Given the description of an element on the screen output the (x, y) to click on. 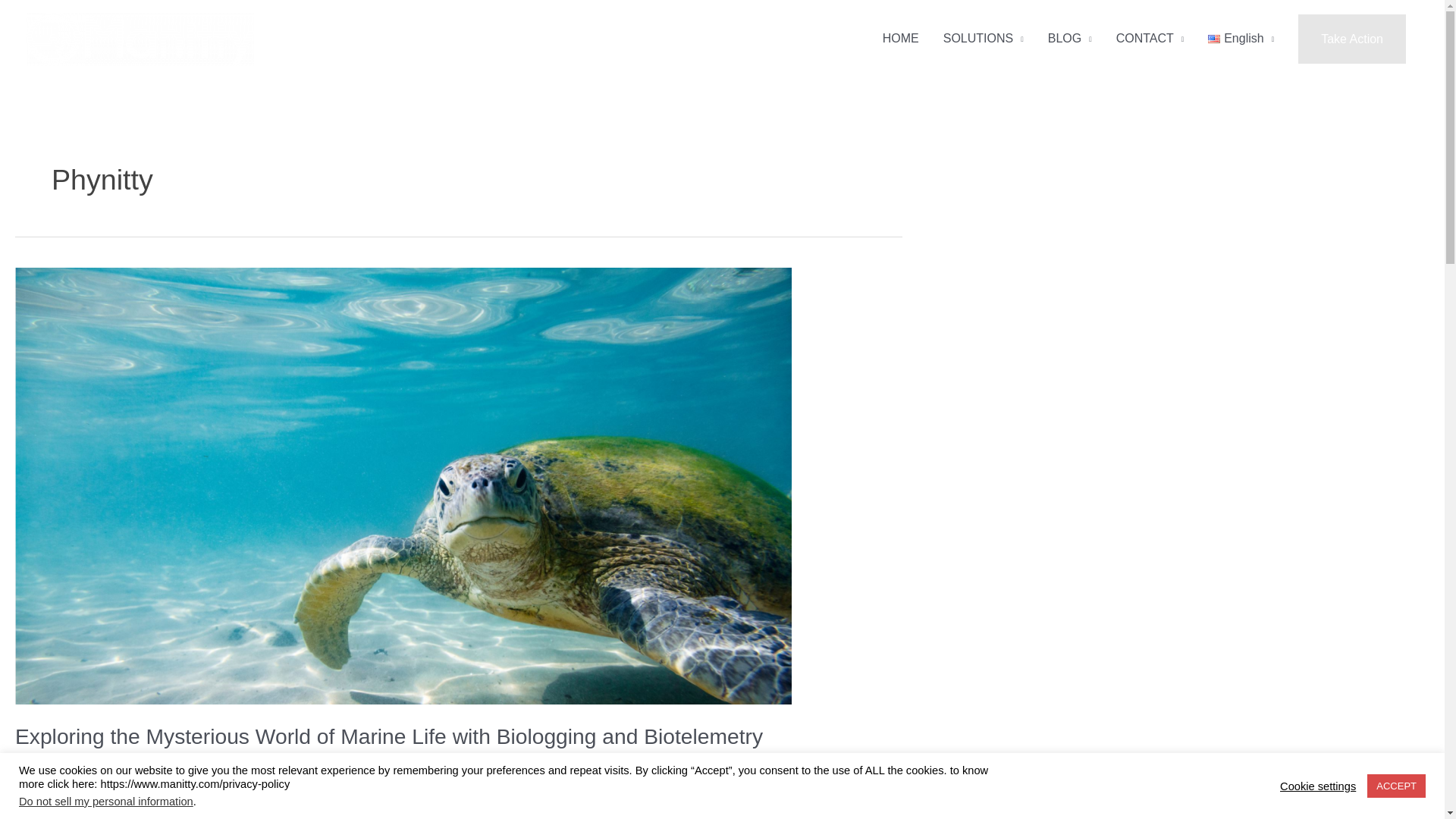
HOME (900, 39)
Do not sell my personal information (105, 801)
Cookie settings (1317, 786)
SOLUTIONS (983, 39)
English (1240, 39)
Take Action (1352, 39)
ACCEPT (1396, 785)
BLOG (1069, 39)
CONTACT (1149, 39)
